Given the description of an element on the screen output the (x, y) to click on. 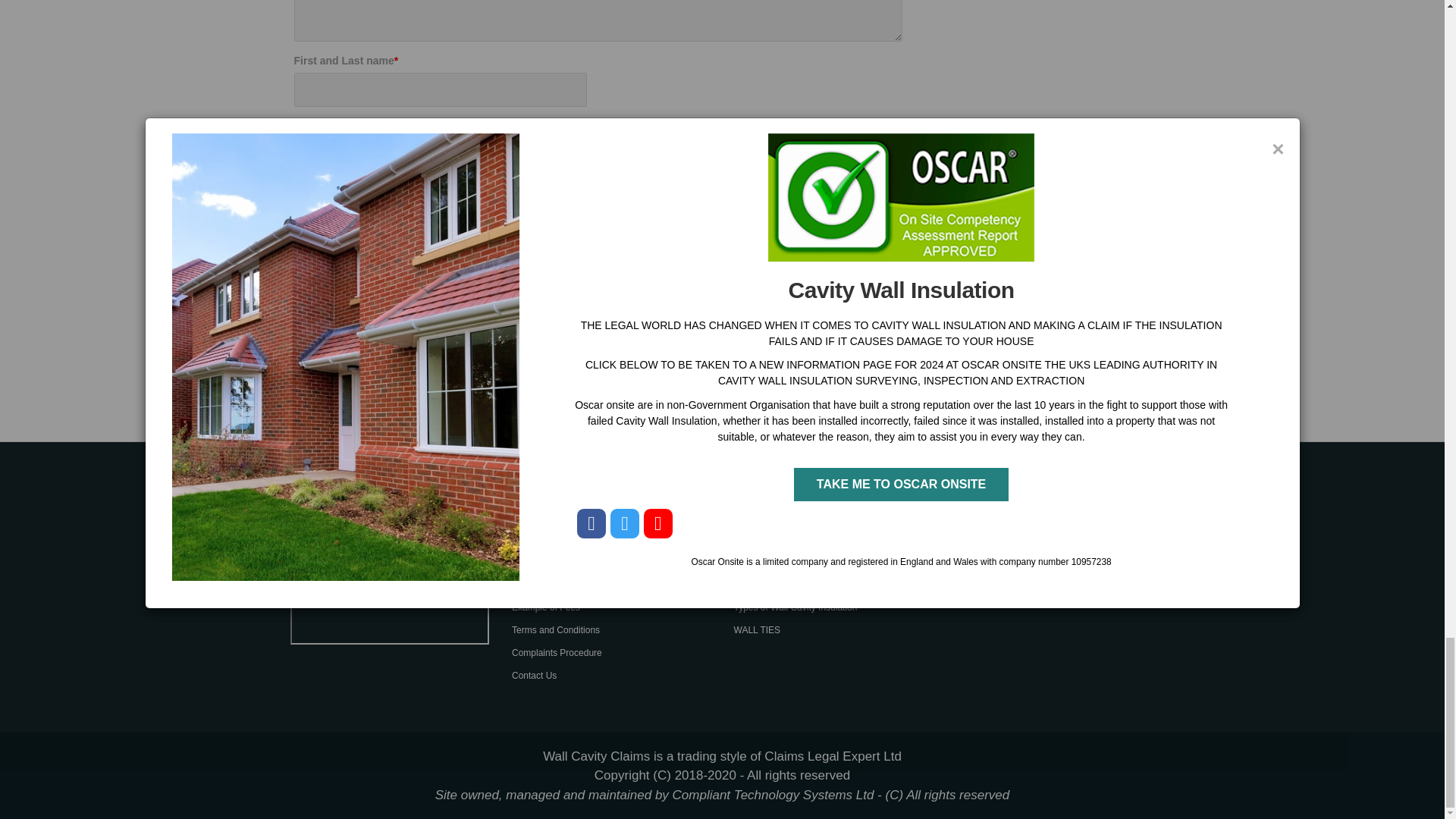
Post Comment (364, 400)
